Given the description of an element on the screen output the (x, y) to click on. 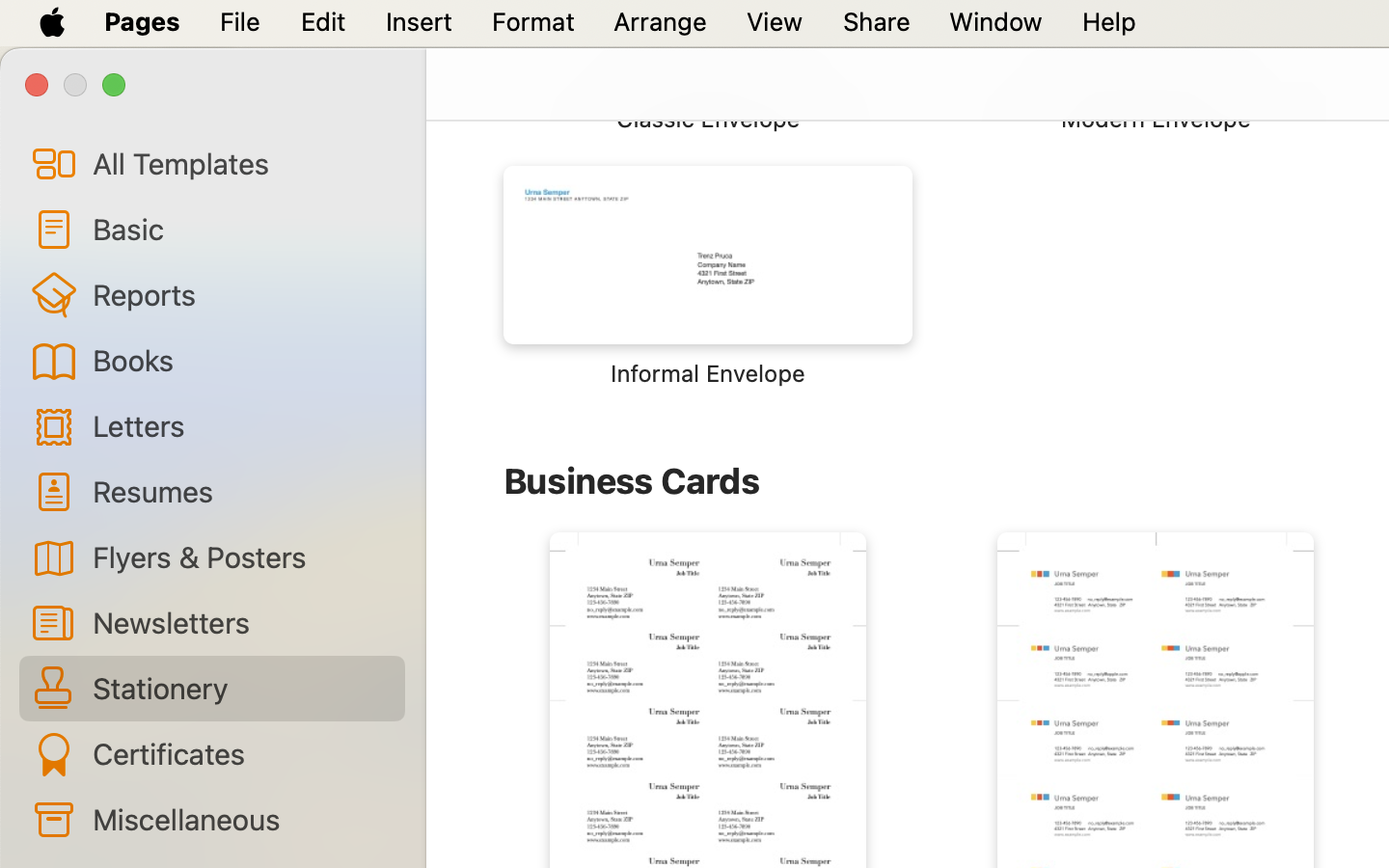
Certificates Element type: AXStaticText (240, 752)
Reports Element type: AXStaticText (240, 293)
Miscellaneous Element type: AXStaticText (240, 818)
Books Element type: AXStaticText (240, 359)
Newsletters Element type: AXStaticText (240, 621)
